Given the description of an element on the screen output the (x, y) to click on. 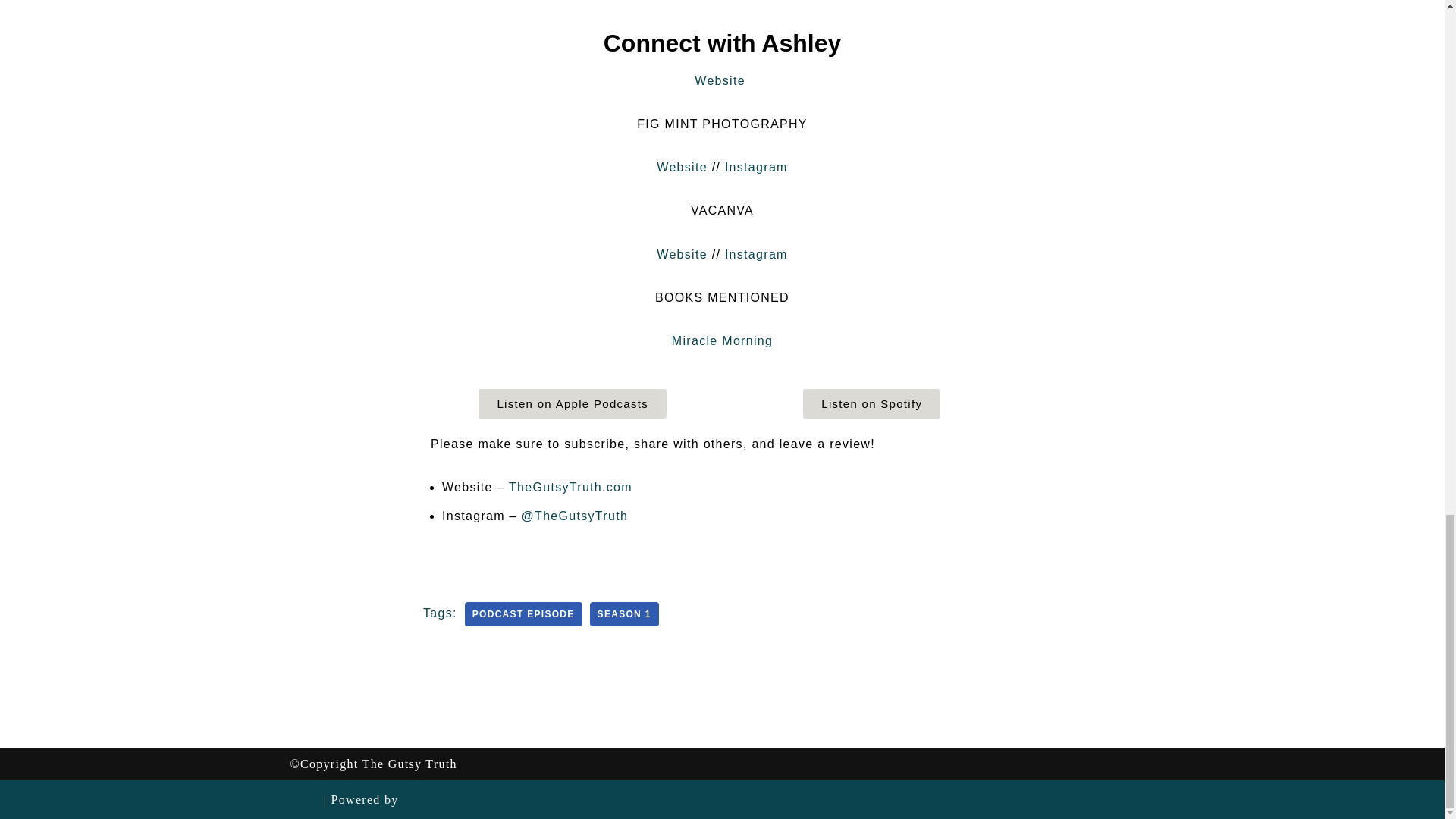
Listen on Spotify (871, 403)
PODCAST EPISODE (523, 613)
Instagram (756, 254)
Listen on Apple Podcasts (572, 403)
Website (719, 80)
Website (681, 254)
Podcast Episode (523, 613)
TheGutsyTruth.com (569, 486)
SEASON 1 (624, 613)
WordPress (433, 799)
Season 1 (624, 613)
Miracle Morning (722, 340)
Instagram (756, 166)
Neve (303, 799)
Website (683, 166)
